Given the description of an element on the screen output the (x, y) to click on. 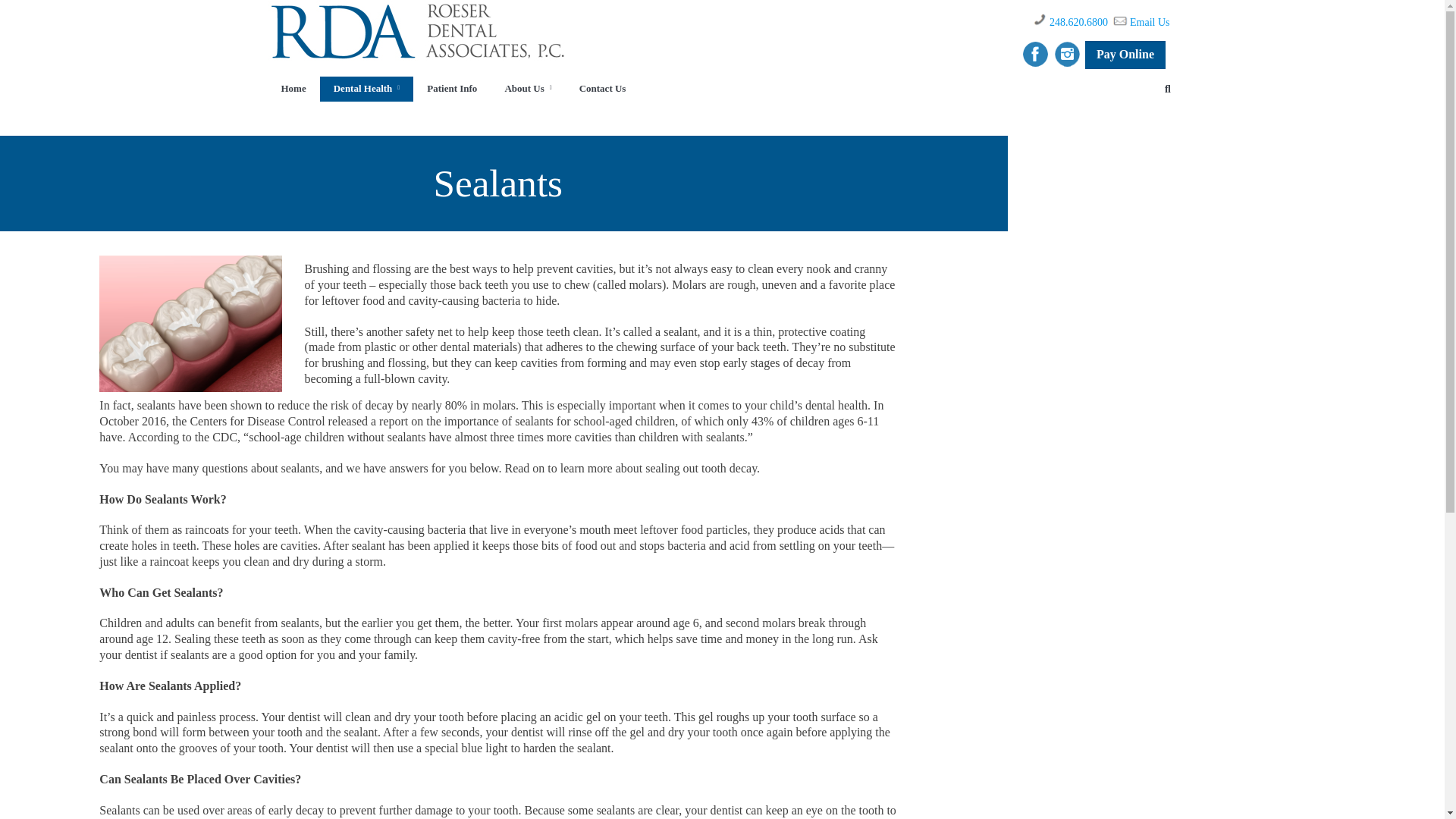
Pay Online (1125, 54)
About Us (527, 88)
Patient Info (451, 88)
Dental Health (366, 88)
Roeser Dental (647, 51)
248.620.6800 (1078, 21)
Contact Us (603, 88)
Email Us (1149, 21)
Home (292, 88)
